Given the description of an element on the screen output the (x, y) to click on. 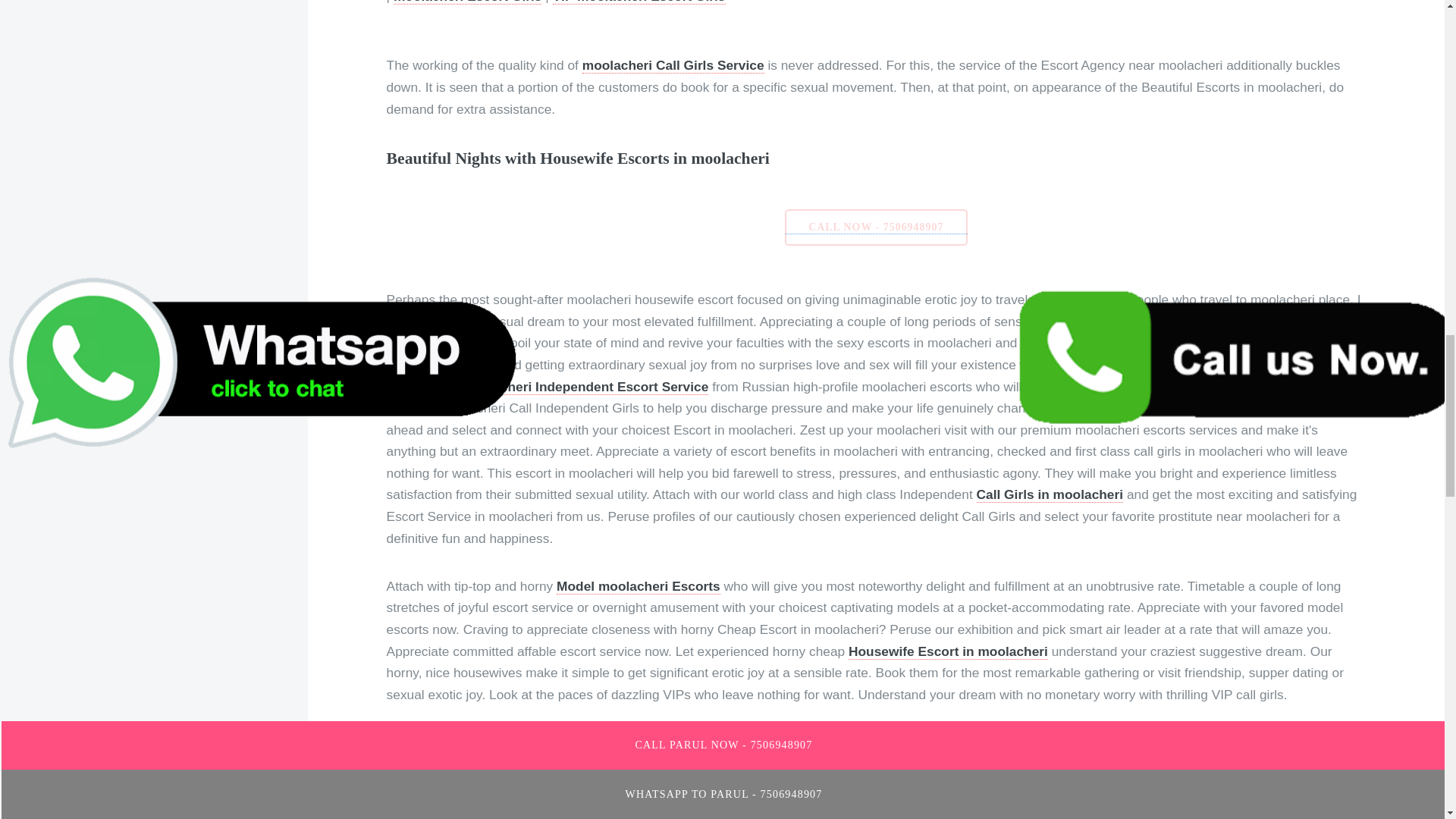
moolacheri Escort Girls (467, 2)
CALL NOW - 7506948907 (876, 227)
Call Girls in moolacheri (1050, 494)
Model moolacheri Escorts (638, 586)
Housewife Escort in moolacheri (948, 651)
moolacheri Call Girls Service (673, 65)
CALL NOW - 7506948907 (876, 226)
moolacheri Independent Escort Service (585, 386)
VIP moolacheri Escort Girls (639, 2)
